Given the description of an element on the screen output the (x, y) to click on. 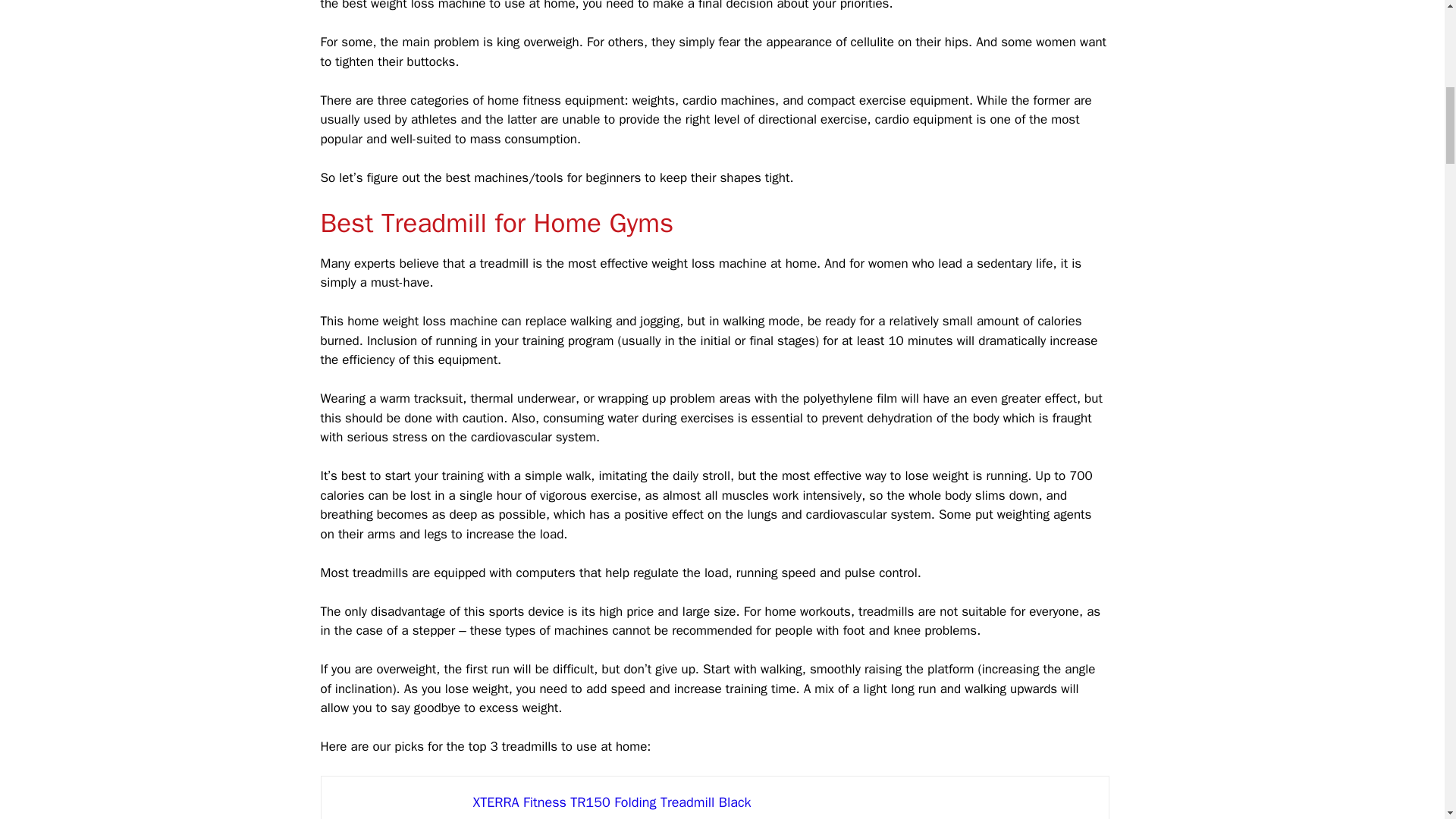
XTERRA Fitness TR150 Folding Treadmill Black (783, 802)
XTERRA Fitness TR150 Folding Treadmill Black (397, 805)
